Given the description of an element on the screen output the (x, y) to click on. 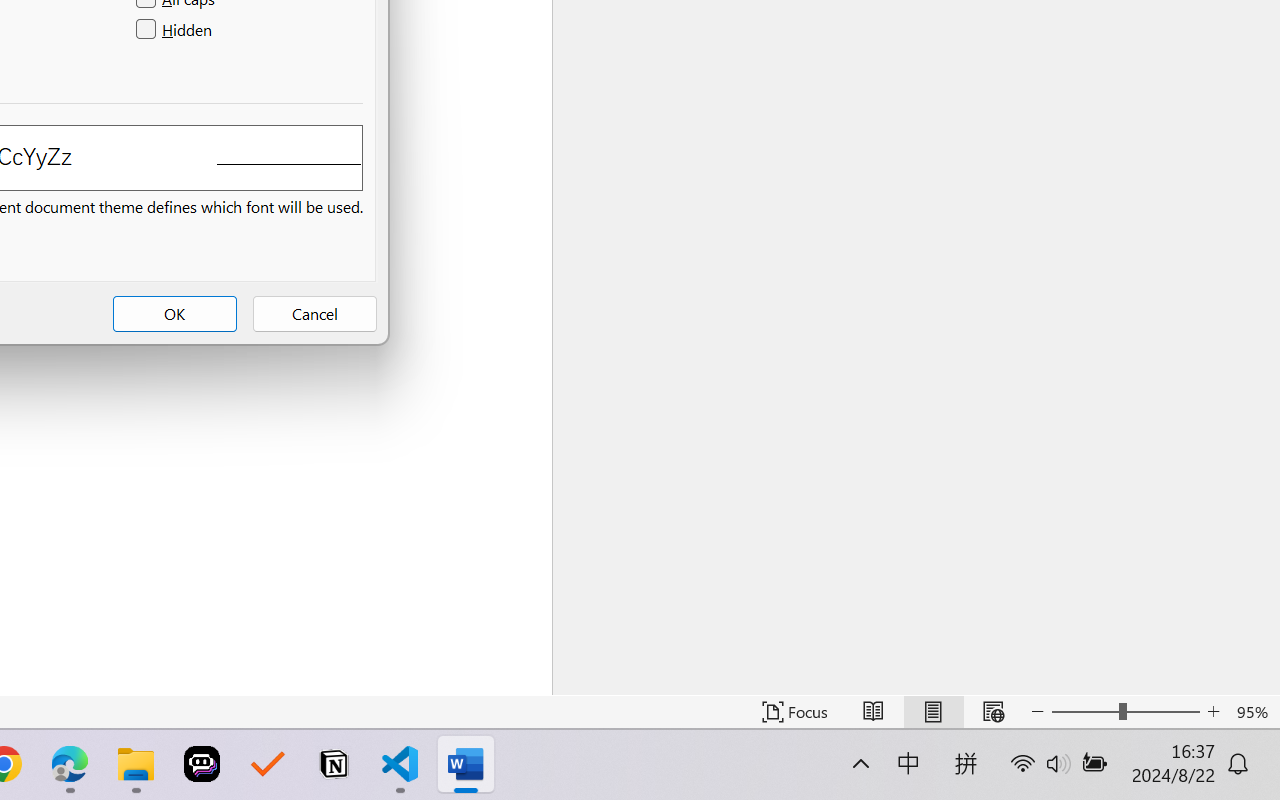
Poe (201, 764)
Hidden (175, 29)
Cancel (314, 313)
Notion (333, 764)
